Given the description of an element on the screen output the (x, y) to click on. 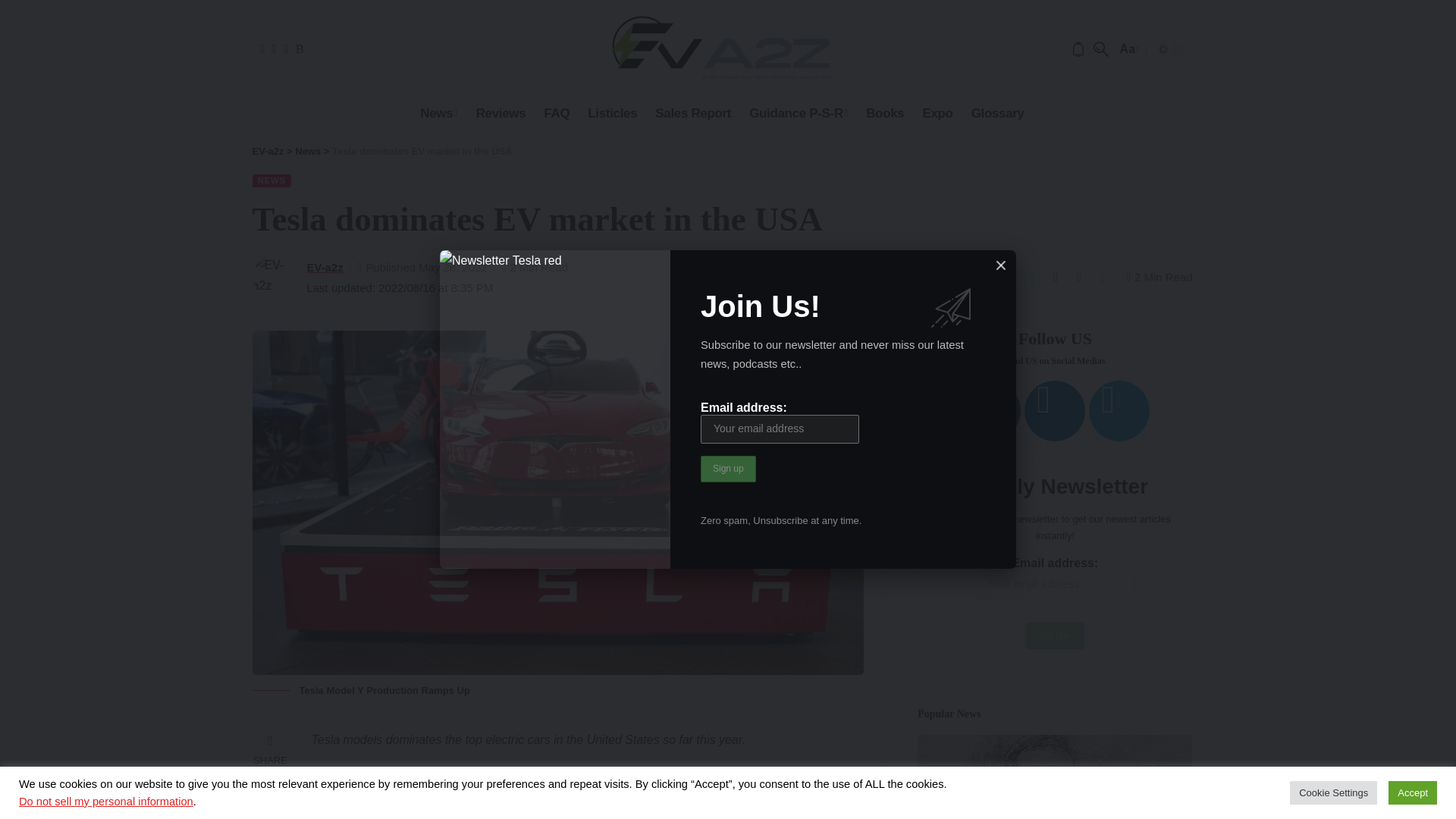
Sign up (727, 468)
Go to EV-a2z. (267, 151)
Go to the News Category archives. (307, 151)
News (437, 113)
EV-a2z (721, 48)
Aa (1127, 48)
Sign up (1054, 635)
Sign up (727, 468)
